Given the description of an element on the screen output the (x, y) to click on. 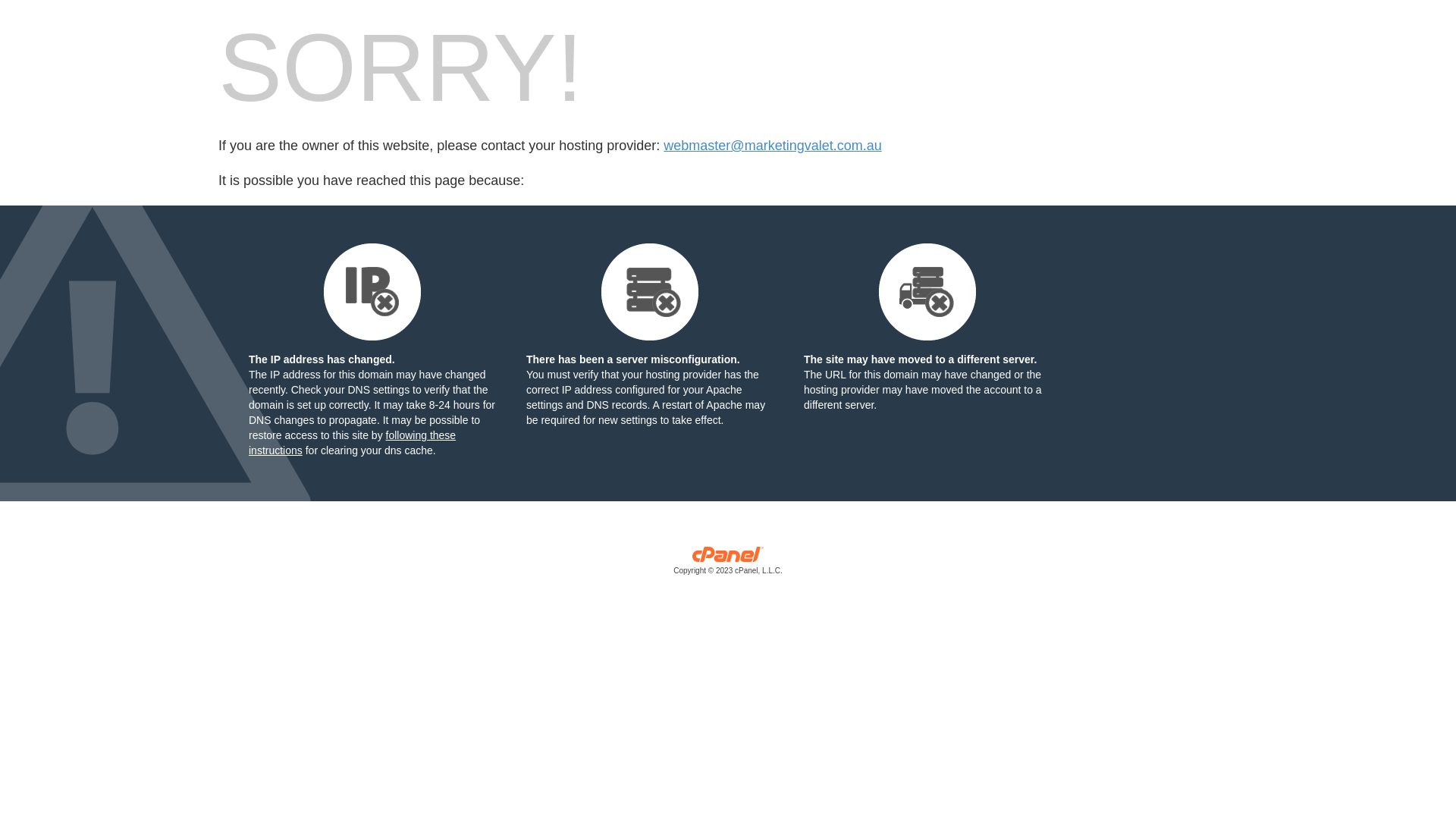
webmaster@marketingvalet.com.au Element type: text (772, 145)
following these instructions Element type: text (351, 442)
